Given the description of an element on the screen output the (x, y) to click on. 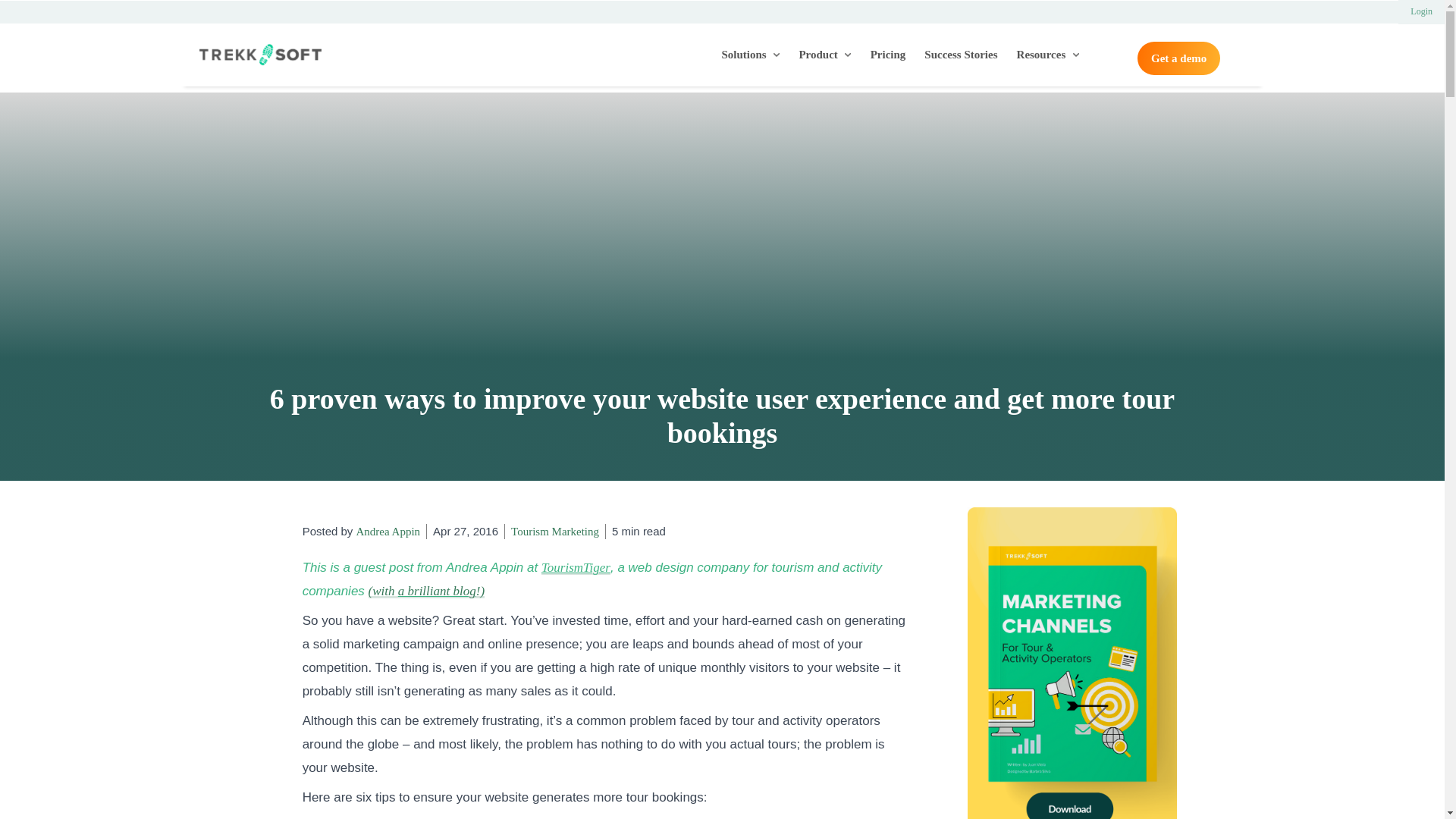
Resources (1047, 54)
Get a demo (1178, 58)
Andrea Appin (388, 531)
TrekkSoft Booking Systems (259, 54)
Solutions (751, 54)
Product (825, 54)
Success Stories (960, 54)
